Given the description of an element on the screen output the (x, y) to click on. 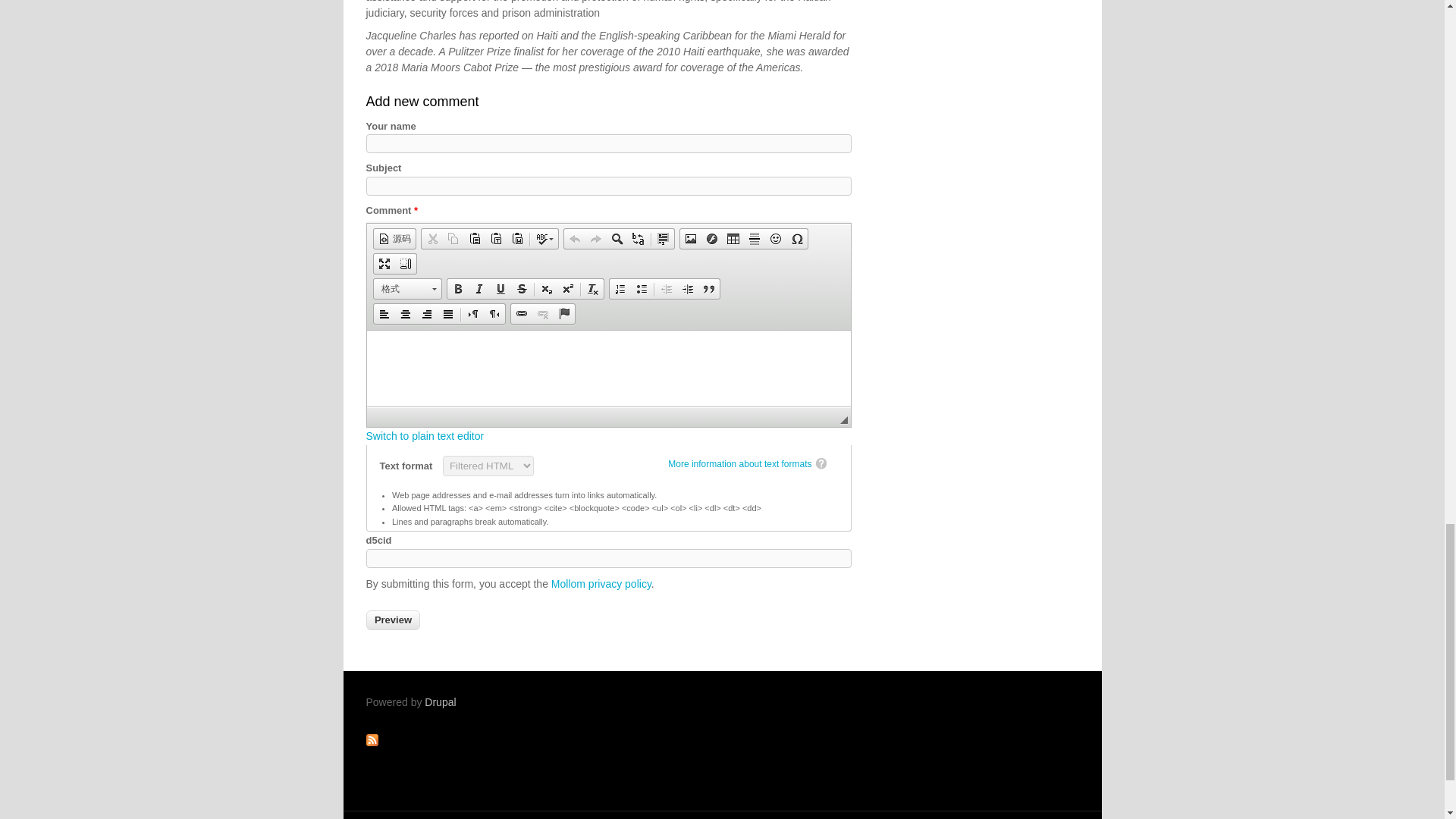
Flash (711, 238)
Preview (392, 619)
